Given the description of an element on the screen output the (x, y) to click on. 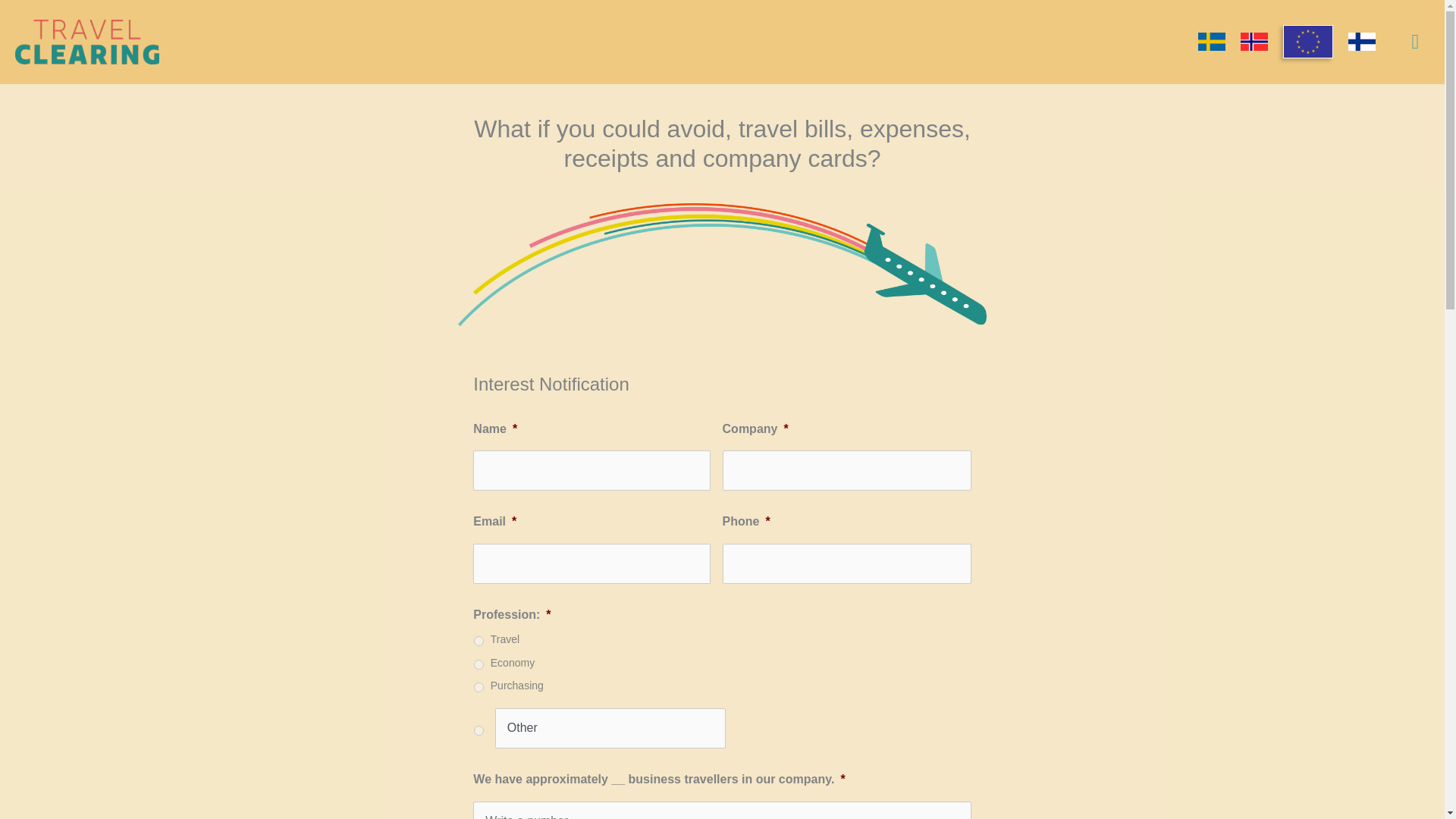
Travel (478, 641)
planet-flyger (721, 264)
Other (610, 728)
Purchasing (478, 687)
Main Menu (1414, 41)
Economy (478, 664)
